Given the description of an element on the screen output the (x, y) to click on. 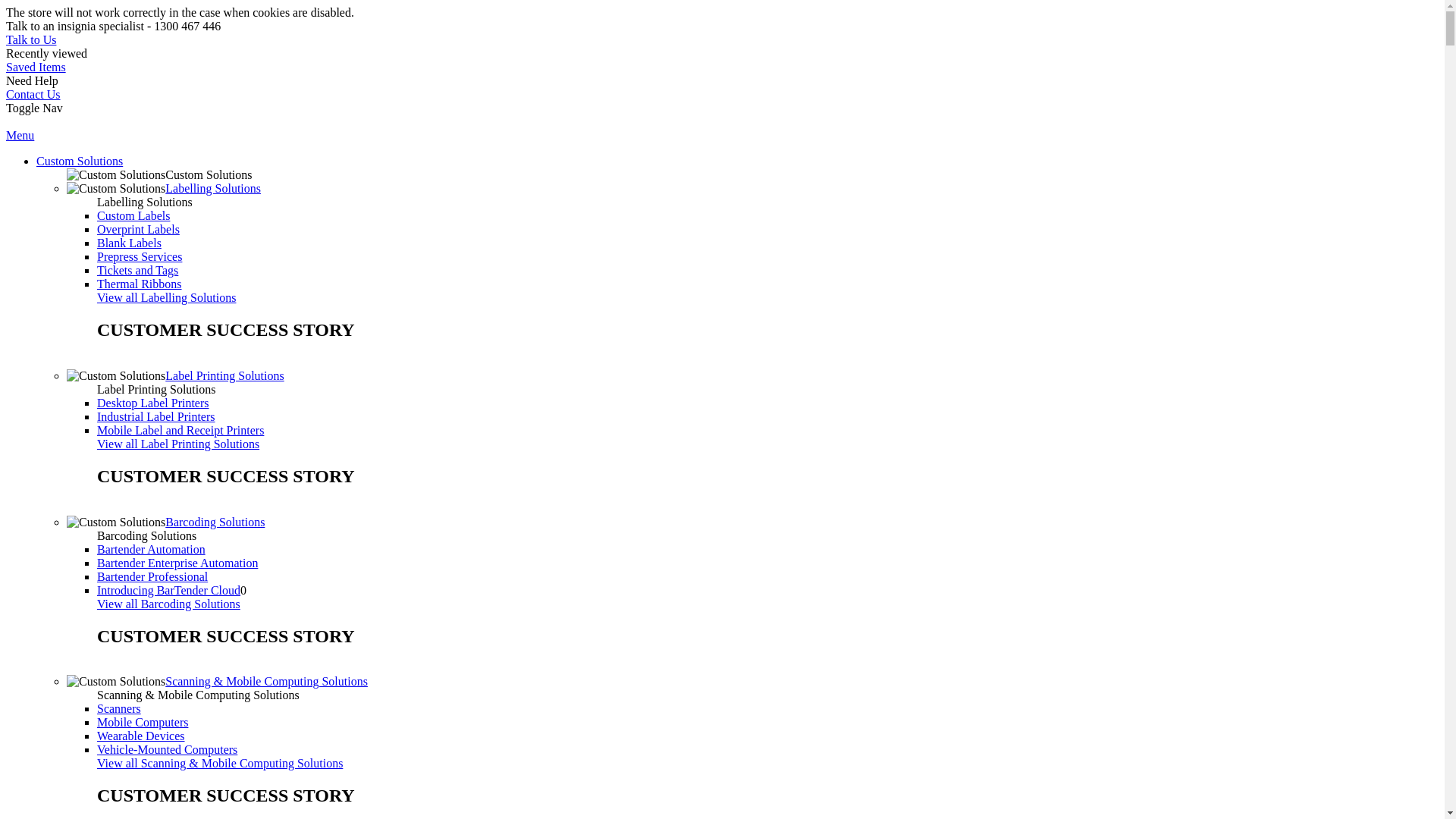
Introducing BarTender Cloud Element type: text (168, 589)
Scanning & Mobile Computing Solutions Element type: text (266, 680)
Mobile Computers Element type: text (142, 721)
Overprint Labels Element type: text (138, 228)
Talk to Us Element type: text (31, 39)
Barcoding Solutions Element type: text (214, 521)
Saved Items Element type: text (35, 66)
View all Labelling Solutions Element type: text (166, 297)
Bartender Professional Element type: text (152, 576)
Prepress Services Element type: text (139, 256)
Custom Labels Element type: text (133, 215)
Blank Labels Element type: text (129, 242)
Labelling Solutions Element type: text (212, 188)
Wearable Devices Element type: text (141, 735)
Industrial Label Printers Element type: text (156, 416)
Menu Element type: text (20, 134)
Contact Us Element type: text (33, 93)
Vehicle-Mounted Computers Element type: text (167, 749)
Custom Solutions Element type: text (79, 160)
Scanners Element type: text (119, 708)
View all Label Printing Solutions Element type: text (178, 443)
Bartender Automation Element type: text (151, 548)
View all Barcoding Solutions Element type: text (168, 603)
Bartender Enterprise Automation Element type: text (177, 562)
Mobile Label and Receipt Printers Element type: text (180, 429)
Desktop Label Printers Element type: text (153, 402)
View all Scanning & Mobile Computing Solutions Element type: text (219, 762)
Thermal Ribbons Element type: text (139, 283)
Label Printing Solutions Element type: text (224, 375)
Tickets and Tags Element type: text (137, 269)
